Given the description of an element on the screen output the (x, y) to click on. 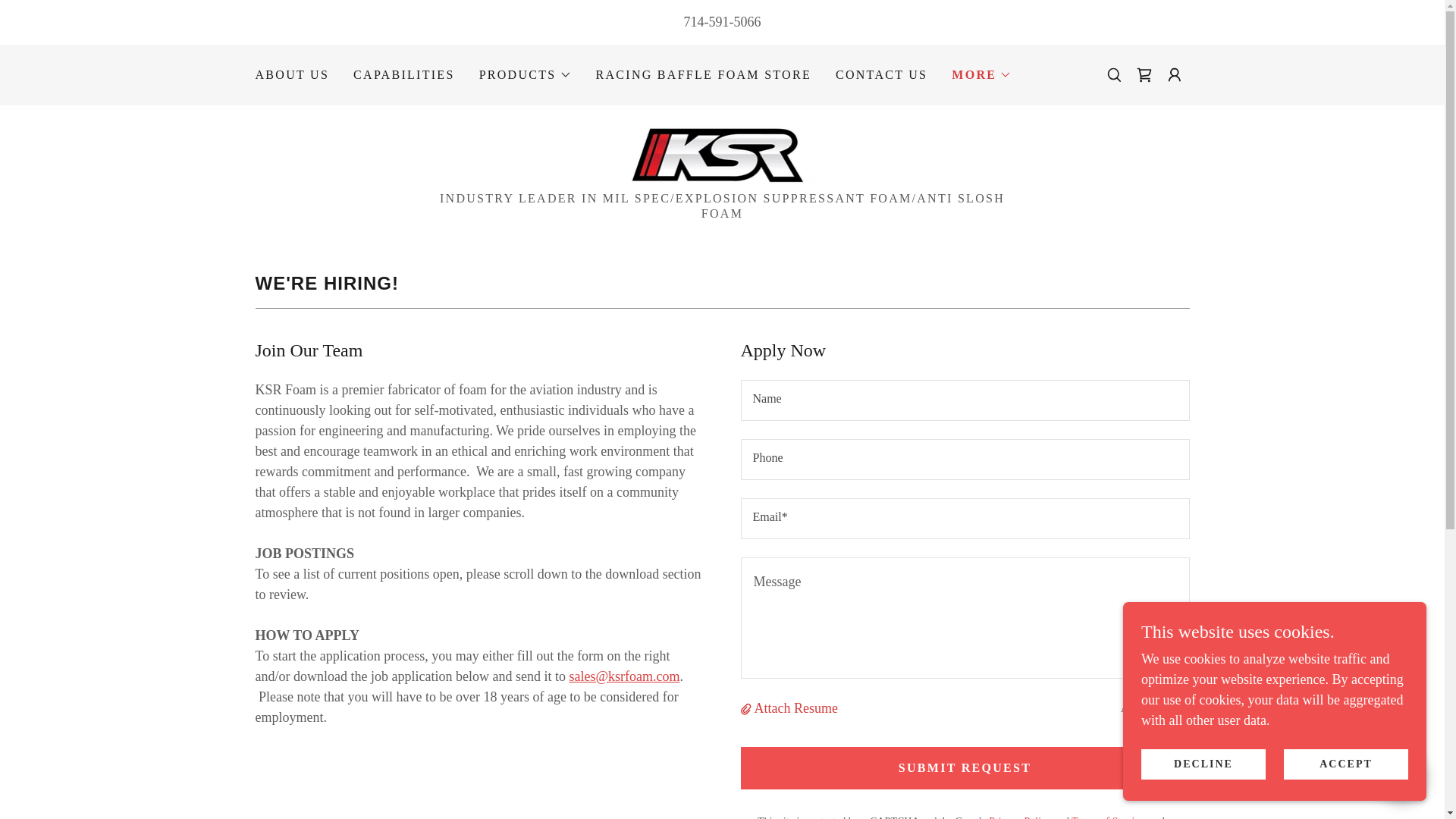
PRODUCTS (525, 75)
714-591-5066 (722, 21)
CONTACT US (881, 74)
MORE (981, 75)
ABOUT US (291, 74)
RACING BAFFLE FOAM STORE (703, 74)
CAPABILITIES (404, 74)
KSR Foam and Technical Products (722, 152)
